Given the description of an element on the screen output the (x, y) to click on. 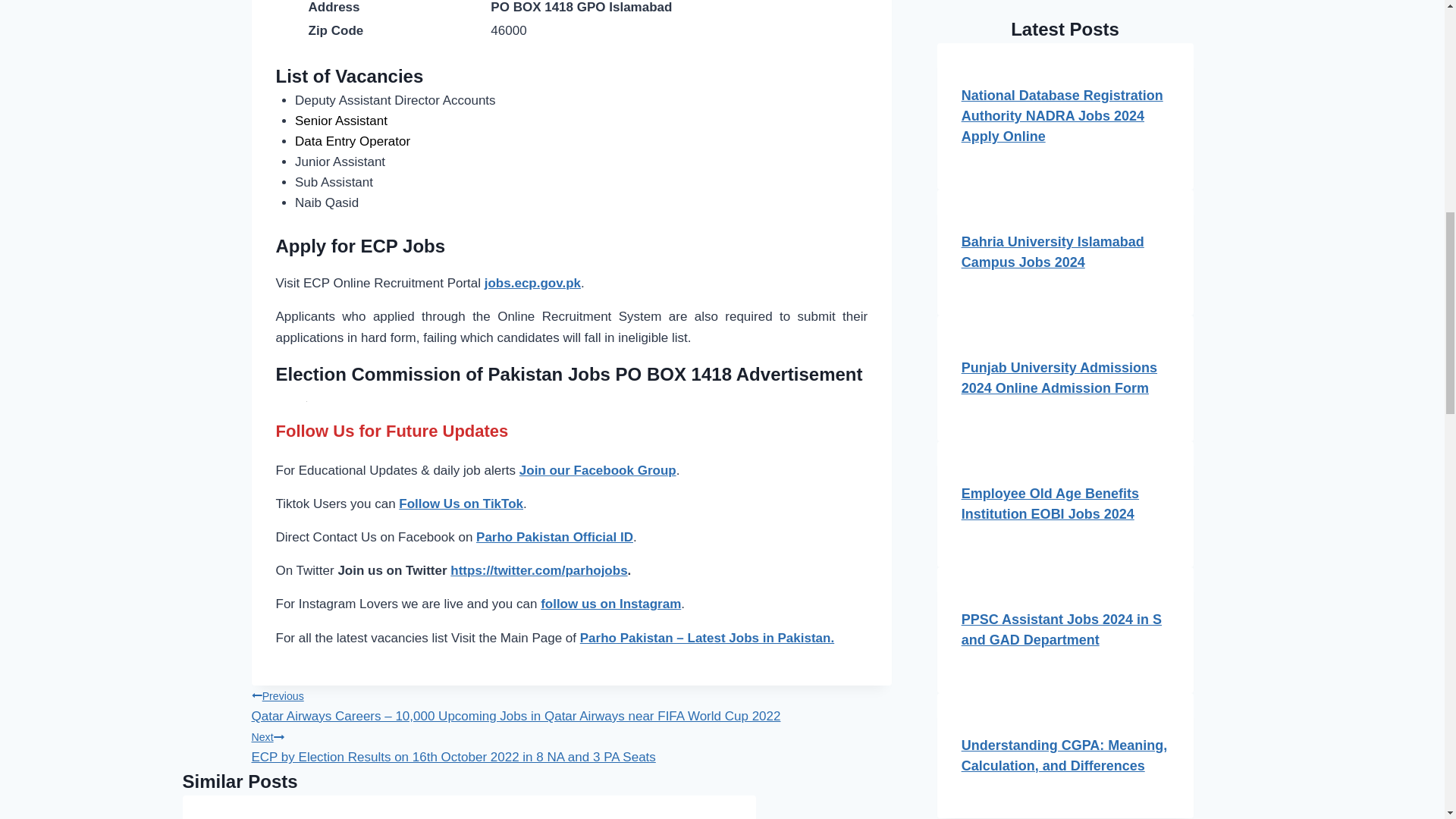
Join our Facebook Group (598, 470)
jobs.ecp.gov.pk (532, 283)
Parho Pakistan Official ID (554, 536)
Follow Us on TikTok (460, 503)
follow us on Instagram (610, 603)
